Given the description of an element on the screen output the (x, y) to click on. 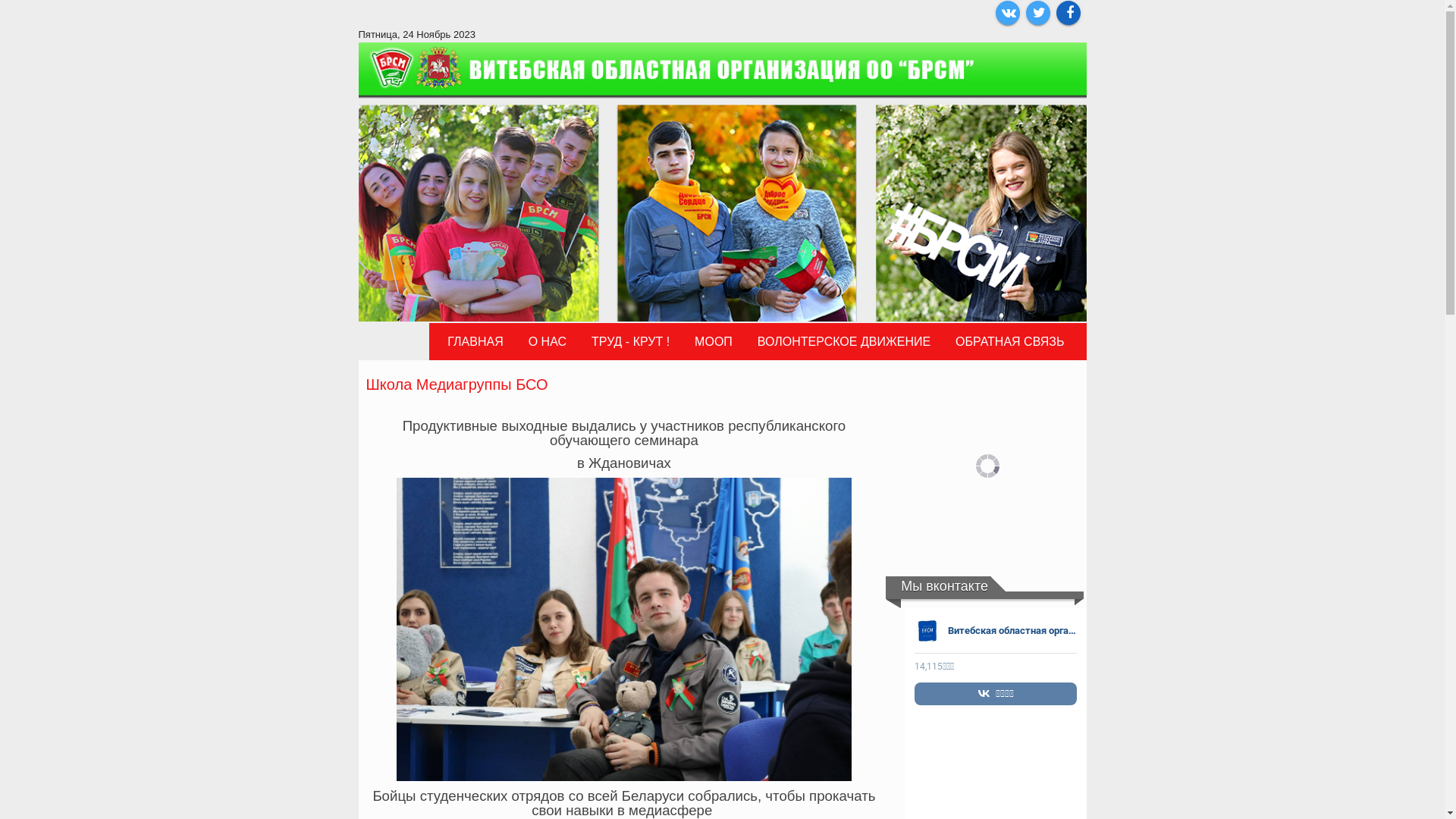
VK Element type: hover (1006, 12)
Twitter Element type: hover (1037, 12)
Facebook Element type: hover (1067, 12)
